Given the description of an element on the screen output the (x, y) to click on. 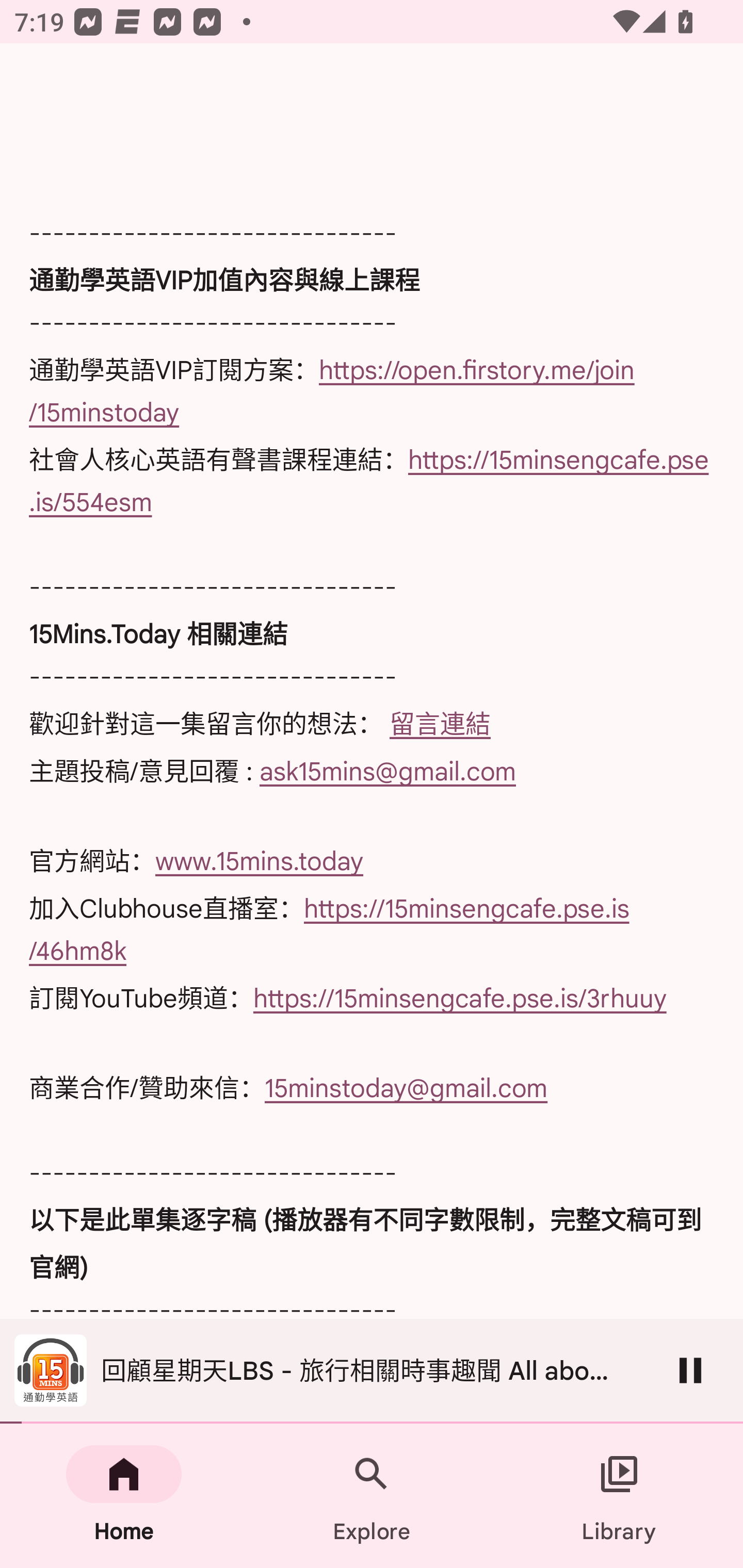
Pause (690, 1370)
Explore (371, 1495)
Library (619, 1495)
